Given the description of an element on the screen output the (x, y) to click on. 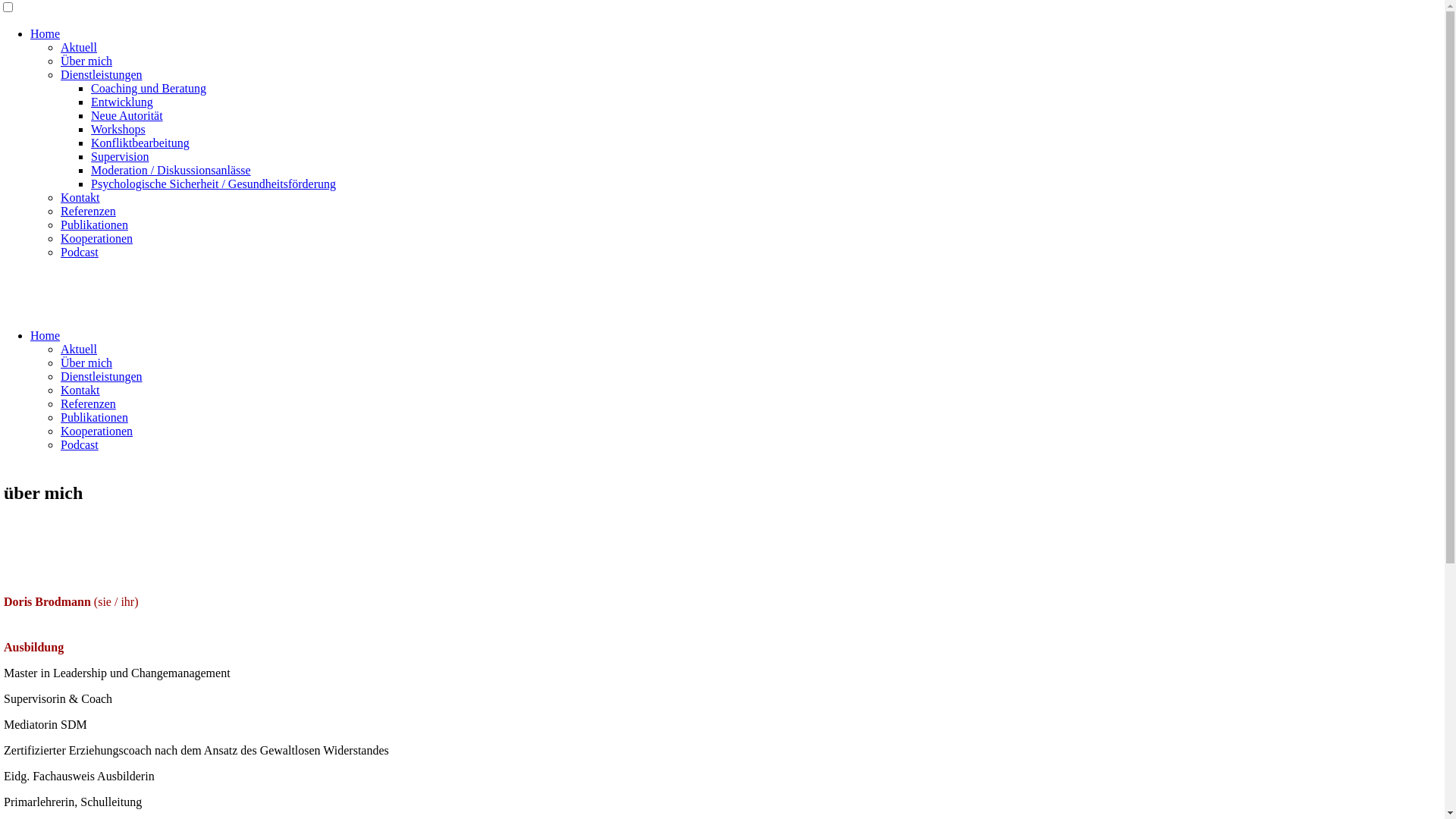
Podcast Element type: text (79, 444)
Referenzen Element type: text (88, 210)
Dienstleistungen Element type: text (101, 74)
Home Element type: text (44, 33)
Coaching und Beratung Element type: text (148, 87)
Publikationen Element type: text (94, 417)
Entwicklung Element type: text (122, 101)
Supervision Element type: text (119, 156)
Publikationen Element type: text (94, 224)
Dienstleistungen Element type: text (101, 376)
Aktuell Element type: text (78, 46)
Referenzen Element type: text (88, 403)
Home Element type: text (44, 335)
Kooperationen Element type: text (96, 430)
Podcast Element type: text (79, 251)
Konfliktbearbeitung Element type: text (140, 142)
Kooperationen Element type: text (96, 238)
Kontakt Element type: text (80, 197)
Kontakt Element type: text (80, 389)
Workshops Element type: text (118, 128)
Aktuell Element type: text (78, 348)
